Given the description of an element on the screen output the (x, y) to click on. 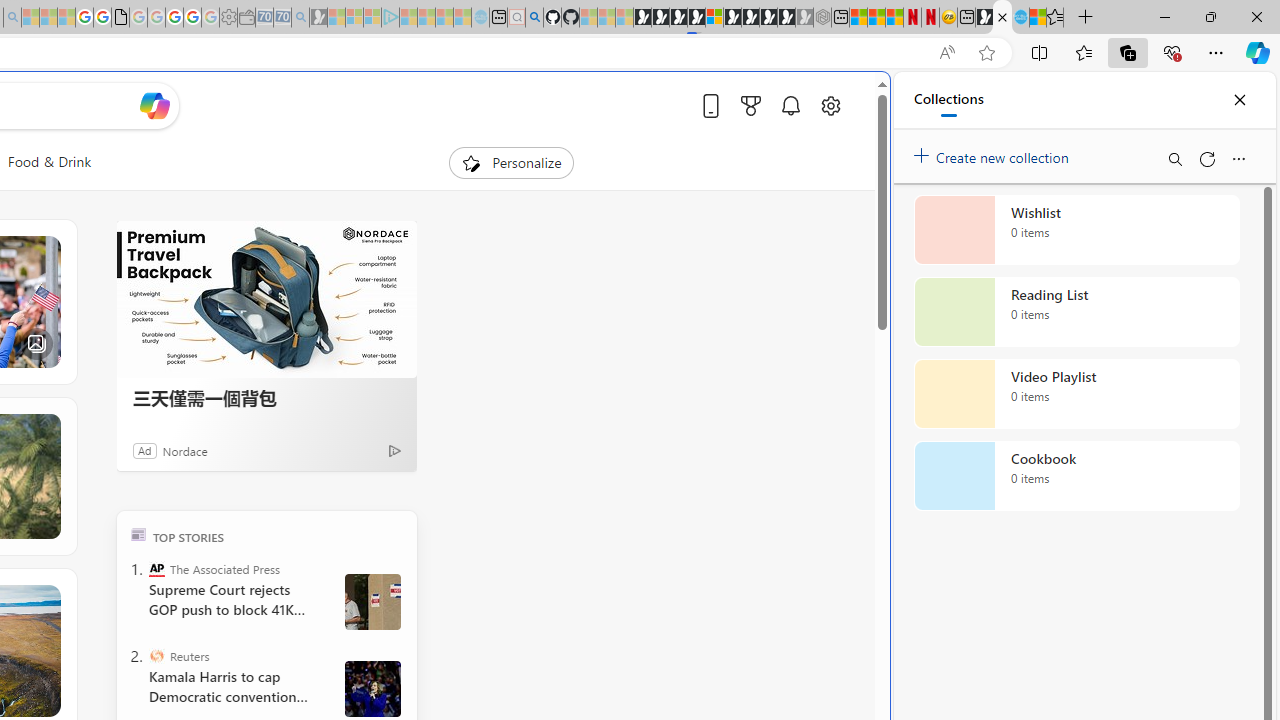
Cookbook collection, 0 items (1076, 475)
Tabs you've opened (276, 265)
